Given the description of an element on the screen output the (x, y) to click on. 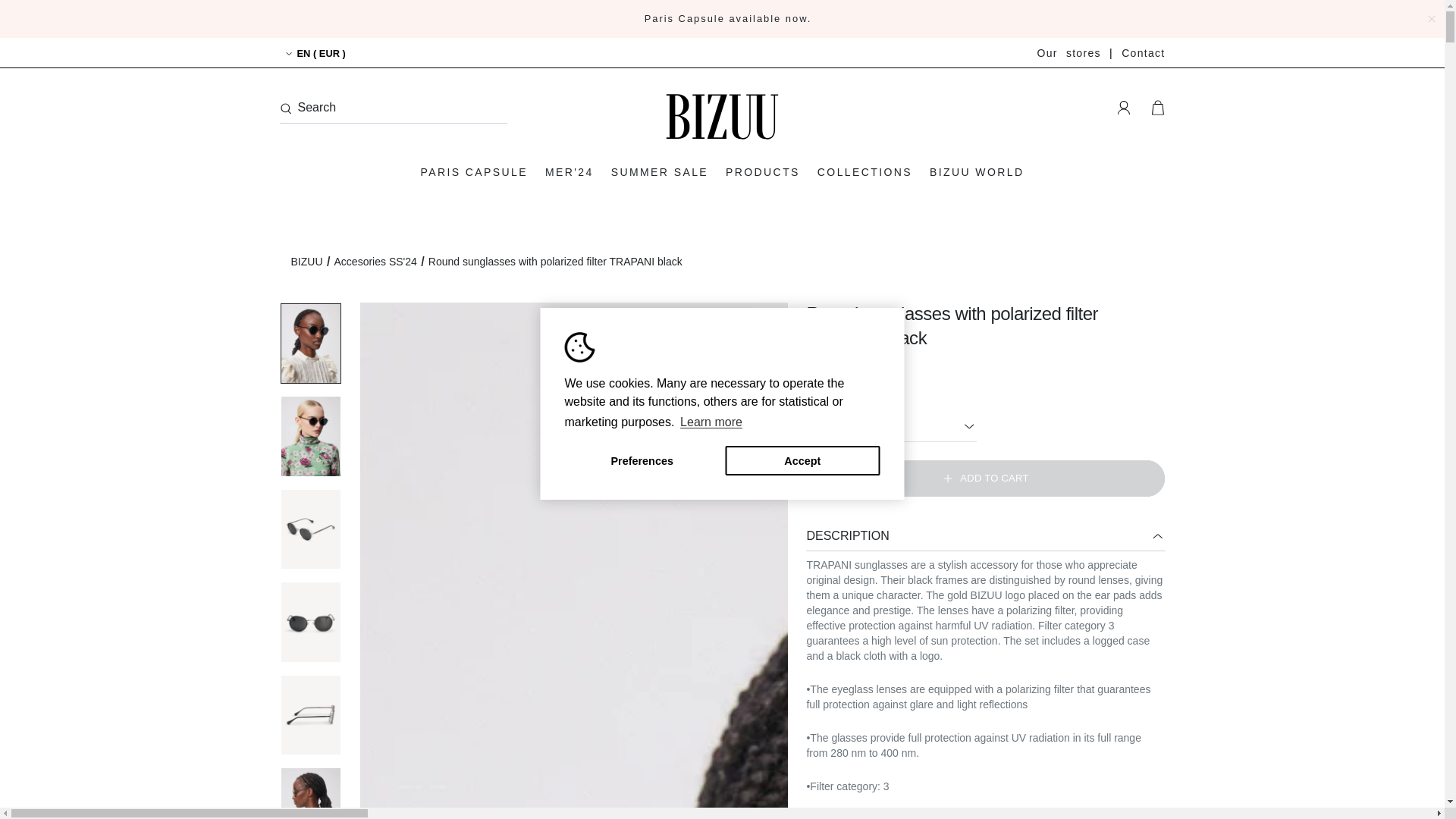
Accept (802, 460)
SUMMER SALE (659, 171)
Contact (1142, 52)
Log in (1123, 107)
PARIS CAPSULE (473, 171)
PARIS CAPSULE (728, 18)
SUMMER SALE (659, 171)
Cart (1157, 107)
Paris Capsule available now. (728, 18)
Our stores (1068, 52)
Preferences (641, 460)
MER'24 (568, 171)
Our stores (1068, 52)
MER'24 (568, 171)
PARIS CAPSULE (473, 171)
